Given the description of an element on the screen output the (x, y) to click on. 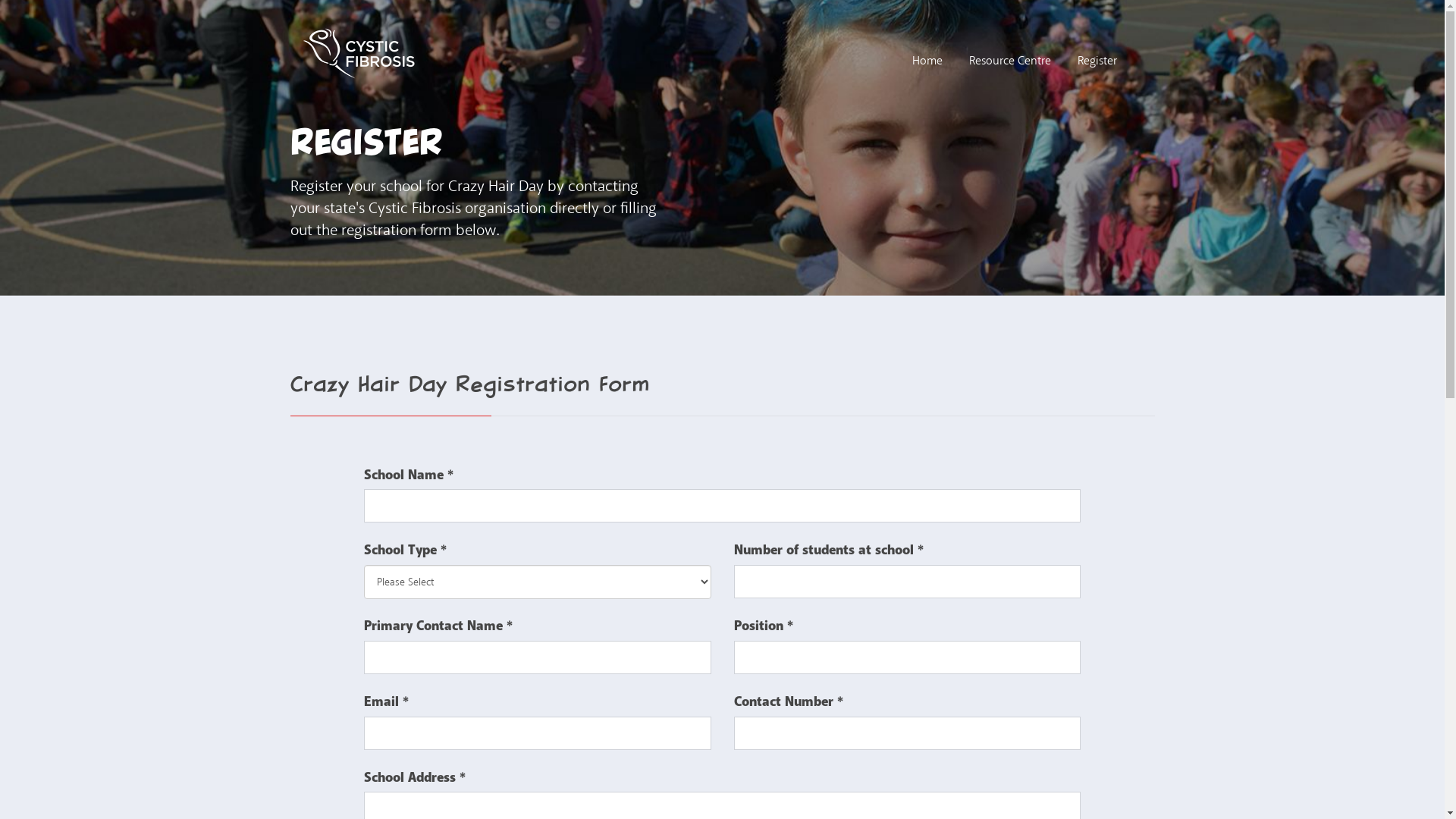
Resource Centre Element type: text (1010, 61)
Register Element type: text (1096, 61)
Home Element type: text (926, 61)
